Given the description of an element on the screen output the (x, y) to click on. 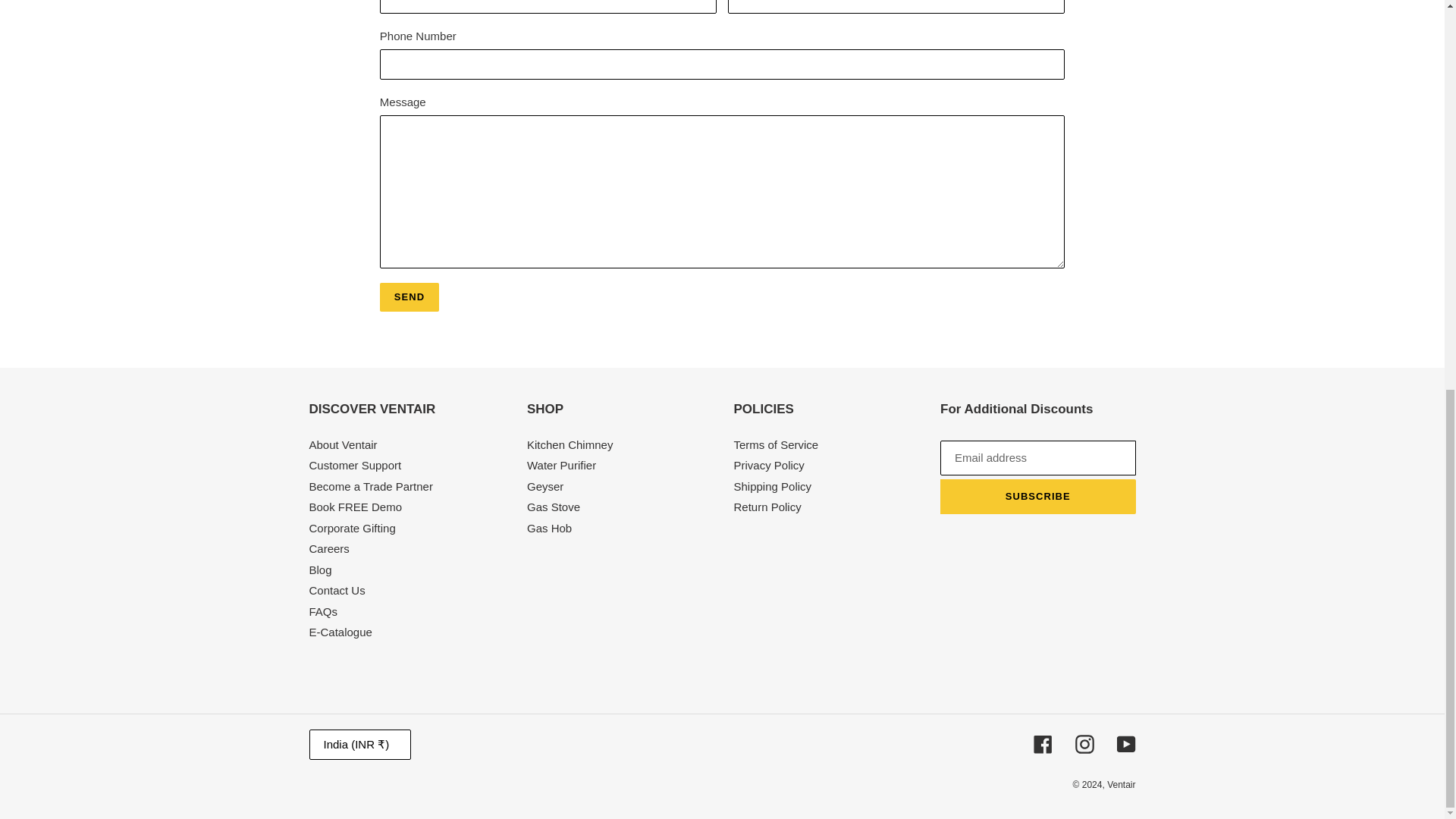
Send (409, 297)
